Given the description of an element on the screen output the (x, y) to click on. 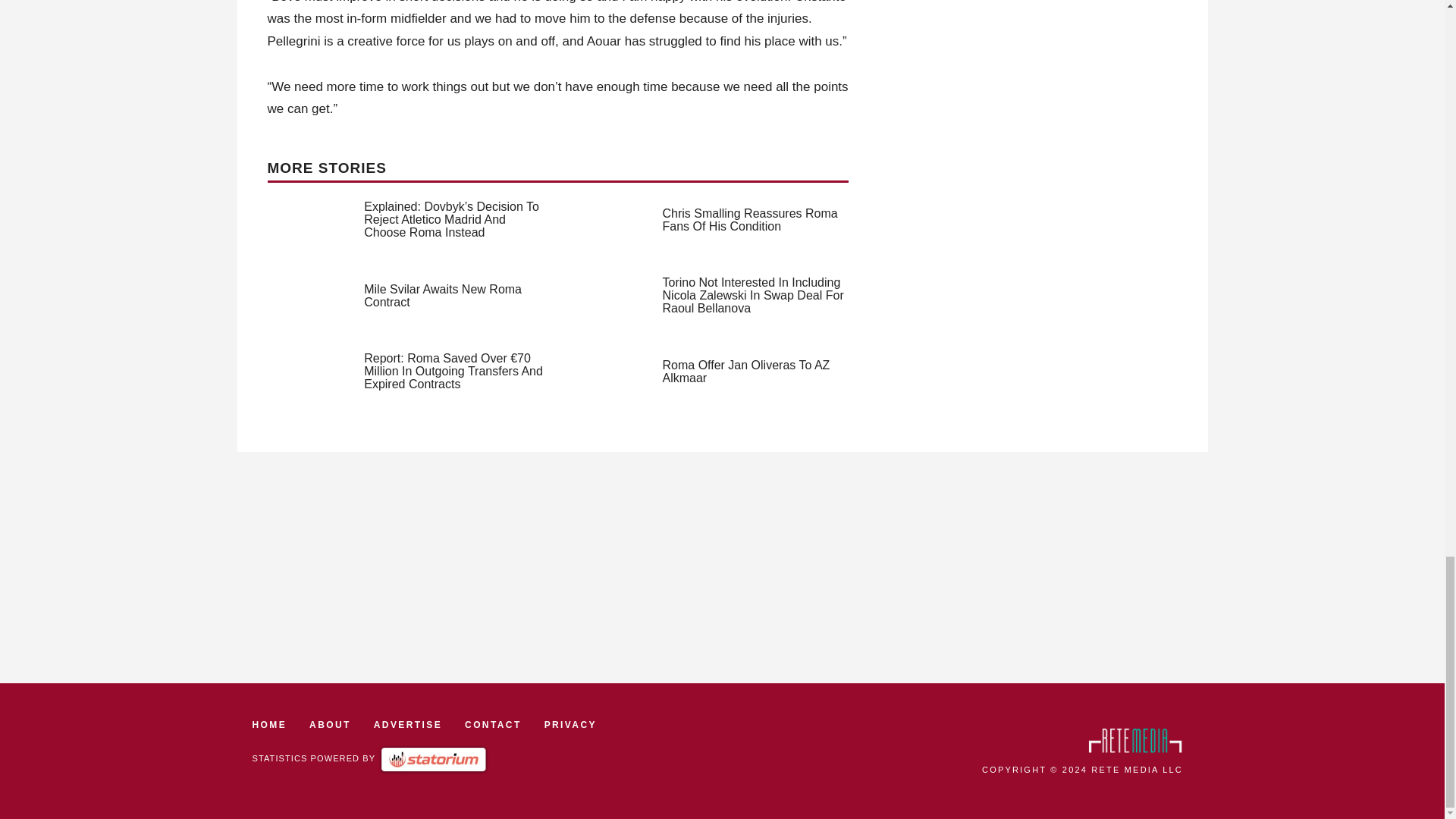
PRIVACY (570, 725)
ADVERTISE (408, 725)
Roma Offer Jan Oliveras To AZ Alkmaar (745, 371)
Mile Svilar Awaits New Roma Contract (442, 295)
Chris Smalling Reassures Roma Fans Of His Condition (750, 219)
ABOUT (329, 725)
CONTACT (492, 725)
HOME (268, 725)
